Given the description of an element on the screen output the (x, y) to click on. 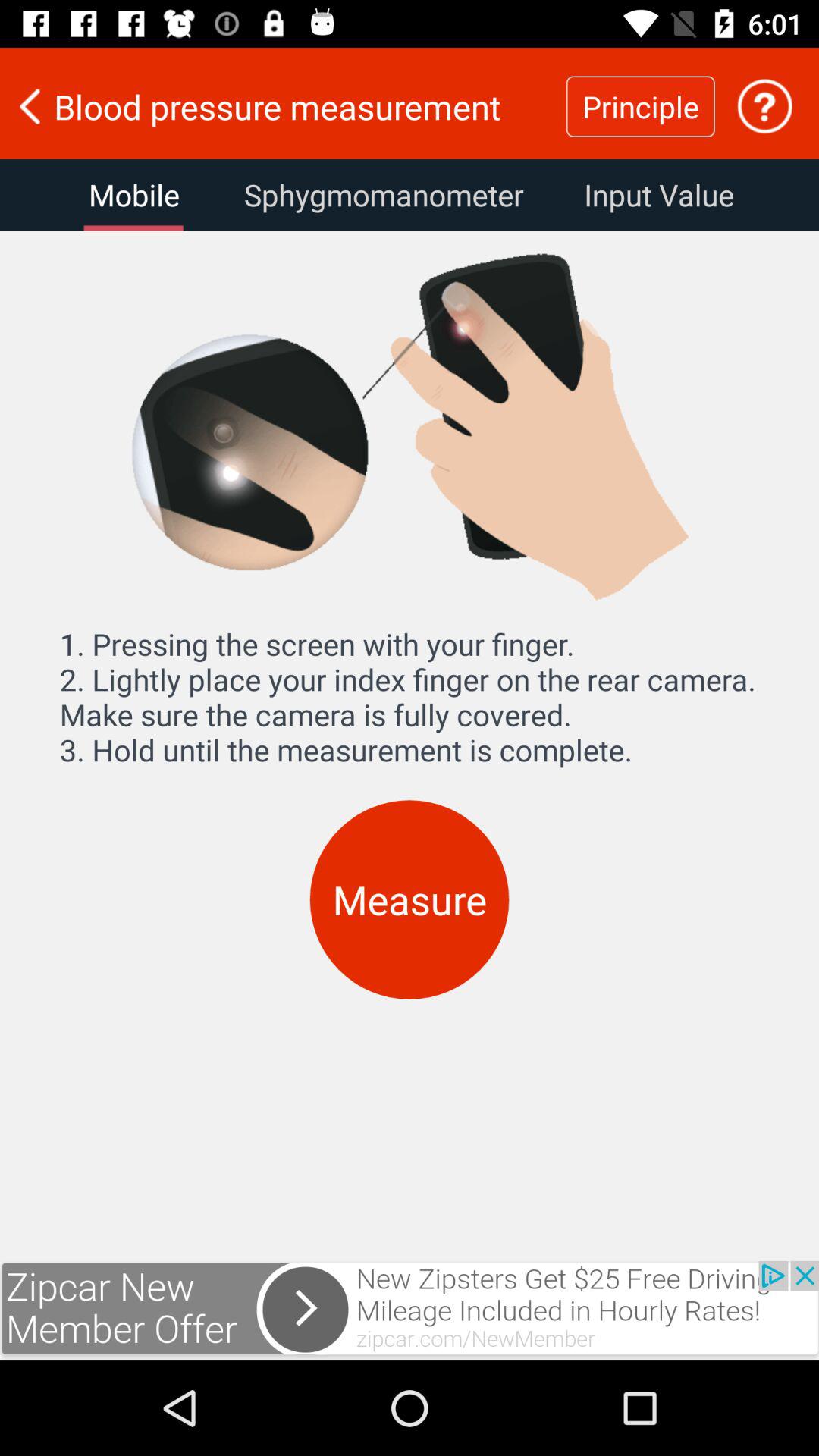
zipcar new member offer (409, 1310)
